Given the description of an element on the screen output the (x, y) to click on. 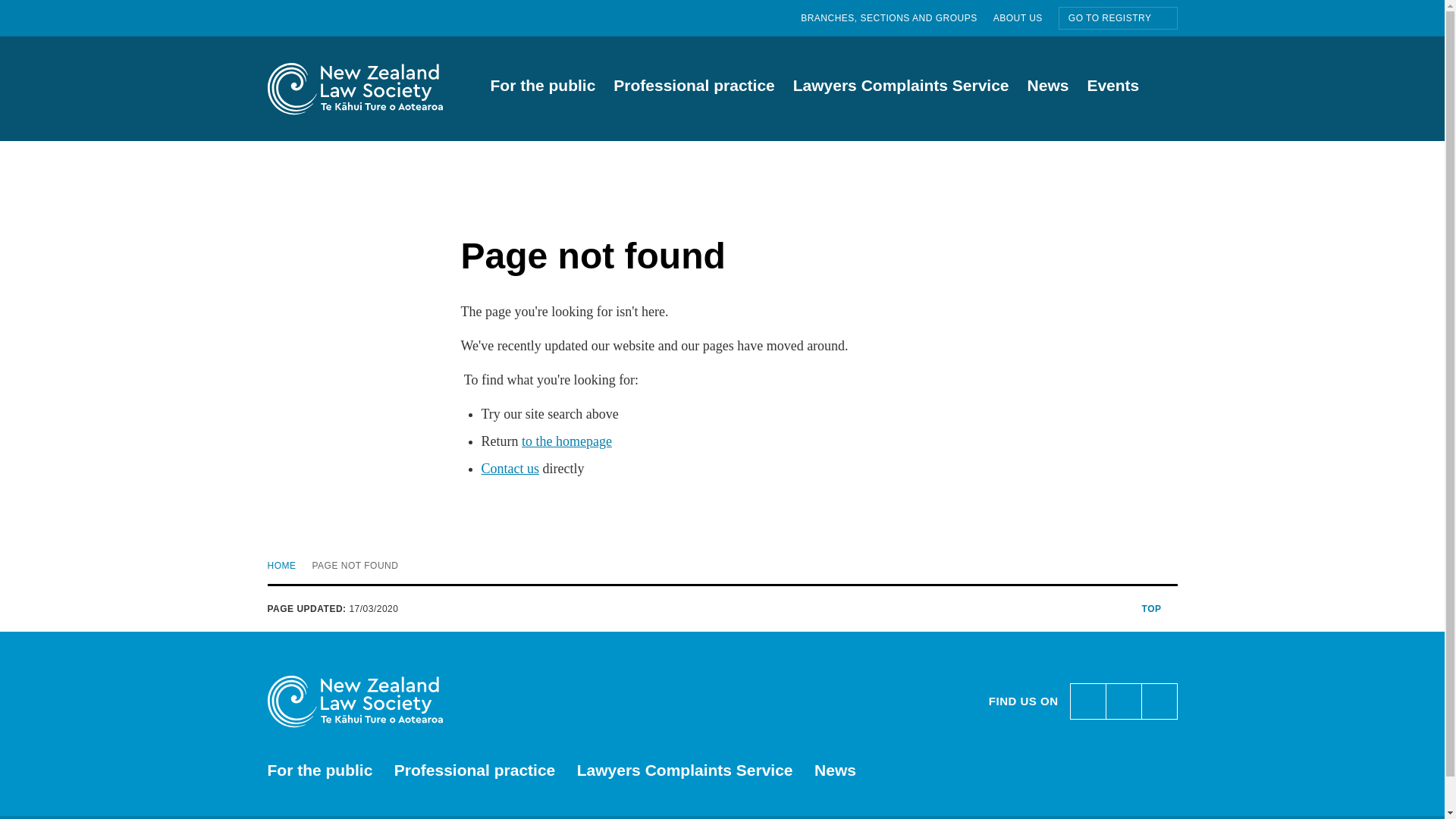
BRANCHES, SECTIONS AND GROUPS (721, 565)
Professional practice (896, 18)
GO TO REGISTRY (693, 88)
Lawyers Complaints Service (1117, 17)
For the public (721, 565)
ABOUT US (900, 88)
